Given the description of an element on the screen output the (x, y) to click on. 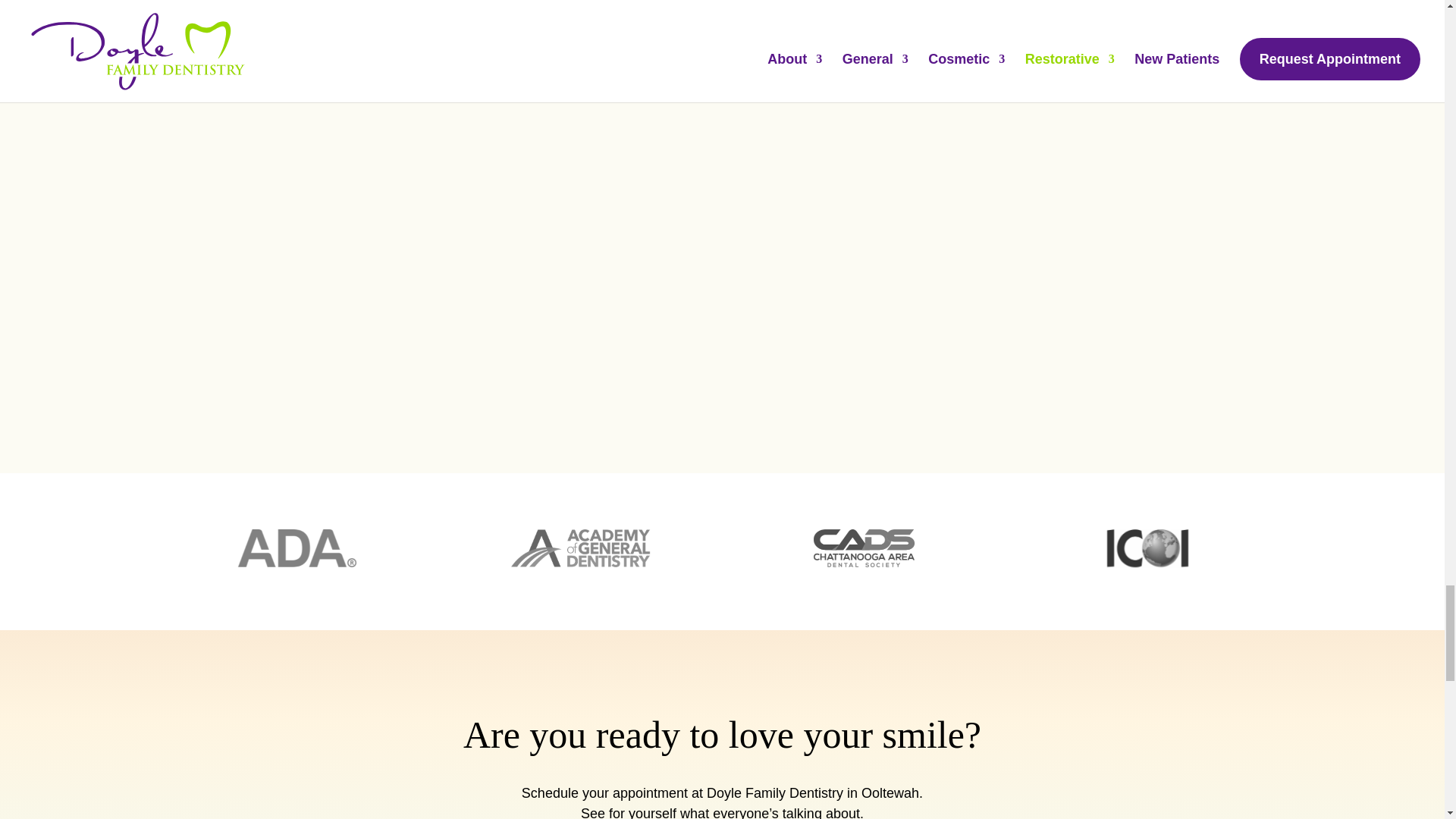
agd-logo (580, 548)
ada-logo (297, 548)
contact-our-front-desk-doyle-family-dentistry (291, 40)
happy-patient-doyle-family-dentistry (560, 40)
